Given the description of an element on the screen output the (x, y) to click on. 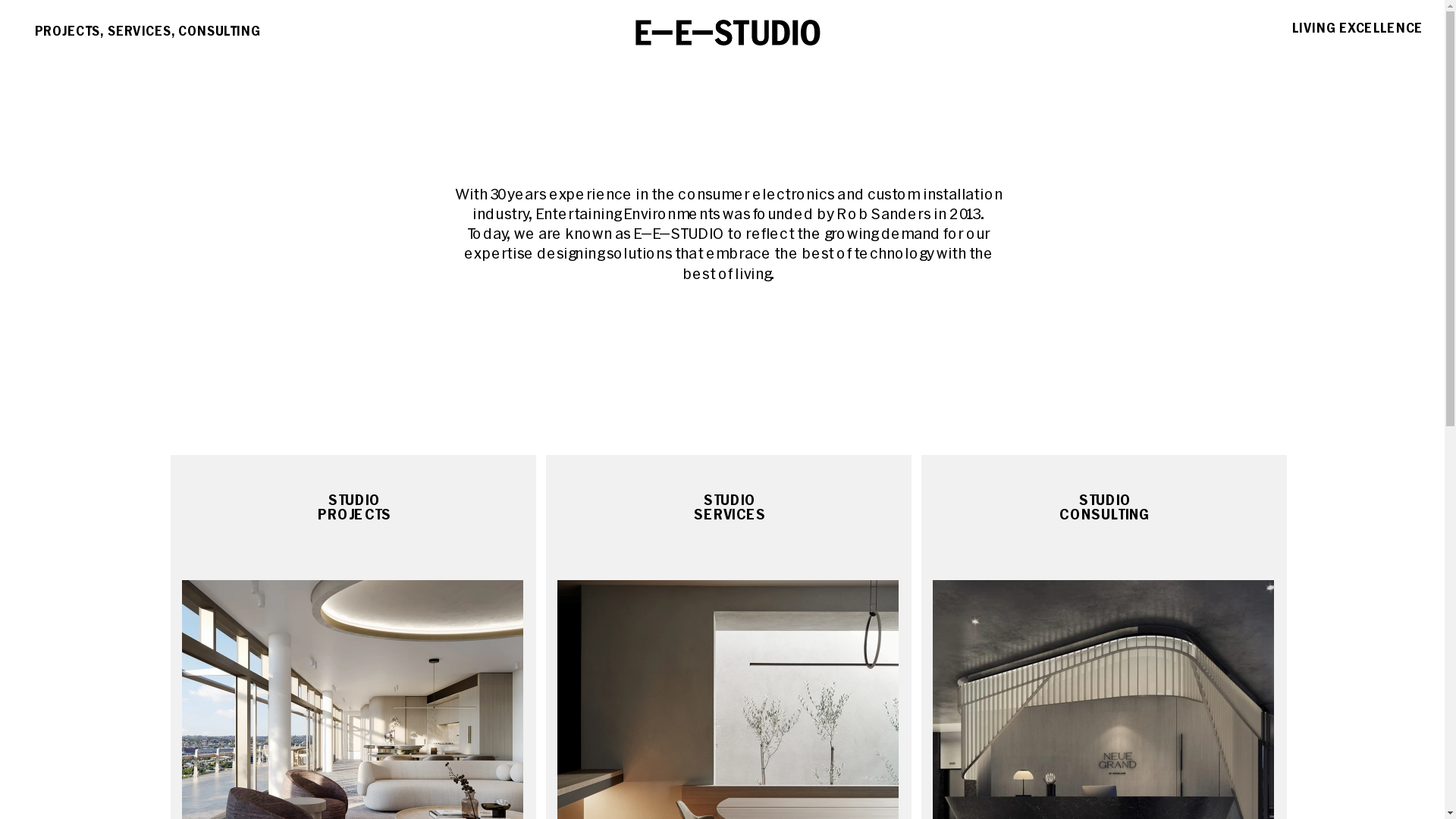
PROJECTS Element type: text (51, 26)
SERVICES Element type: text (124, 26)
CONSULTING Element type: text (200, 26)
LIVING EXCELLENCE Element type: text (1326, 23)
